Given the description of an element on the screen output the (x, y) to click on. 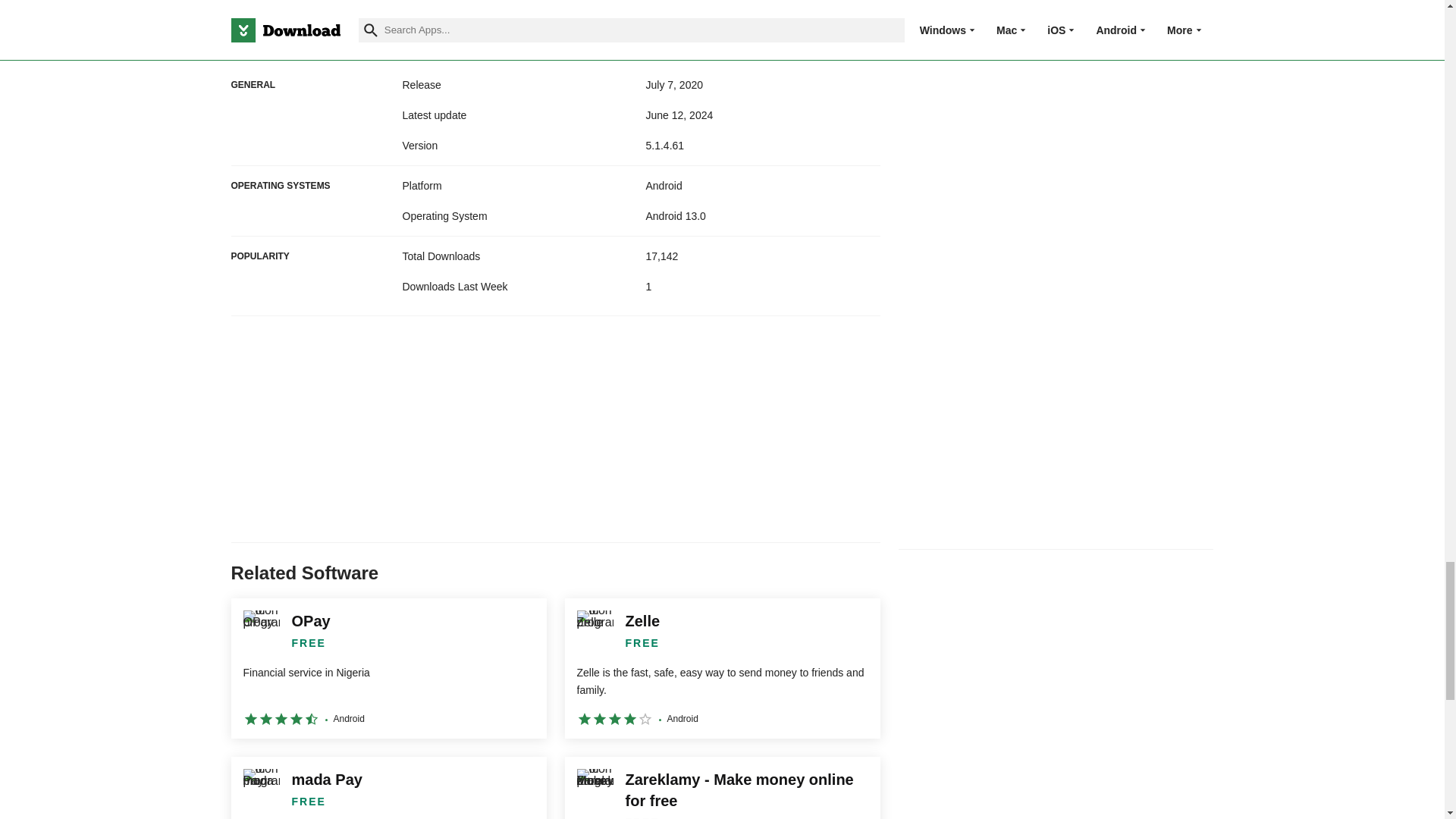
Zareklamy - Make money online for free (721, 787)
Zelle (721, 668)
mada Pay (388, 787)
OPay (388, 668)
